Given the description of an element on the screen output the (x, y) to click on. 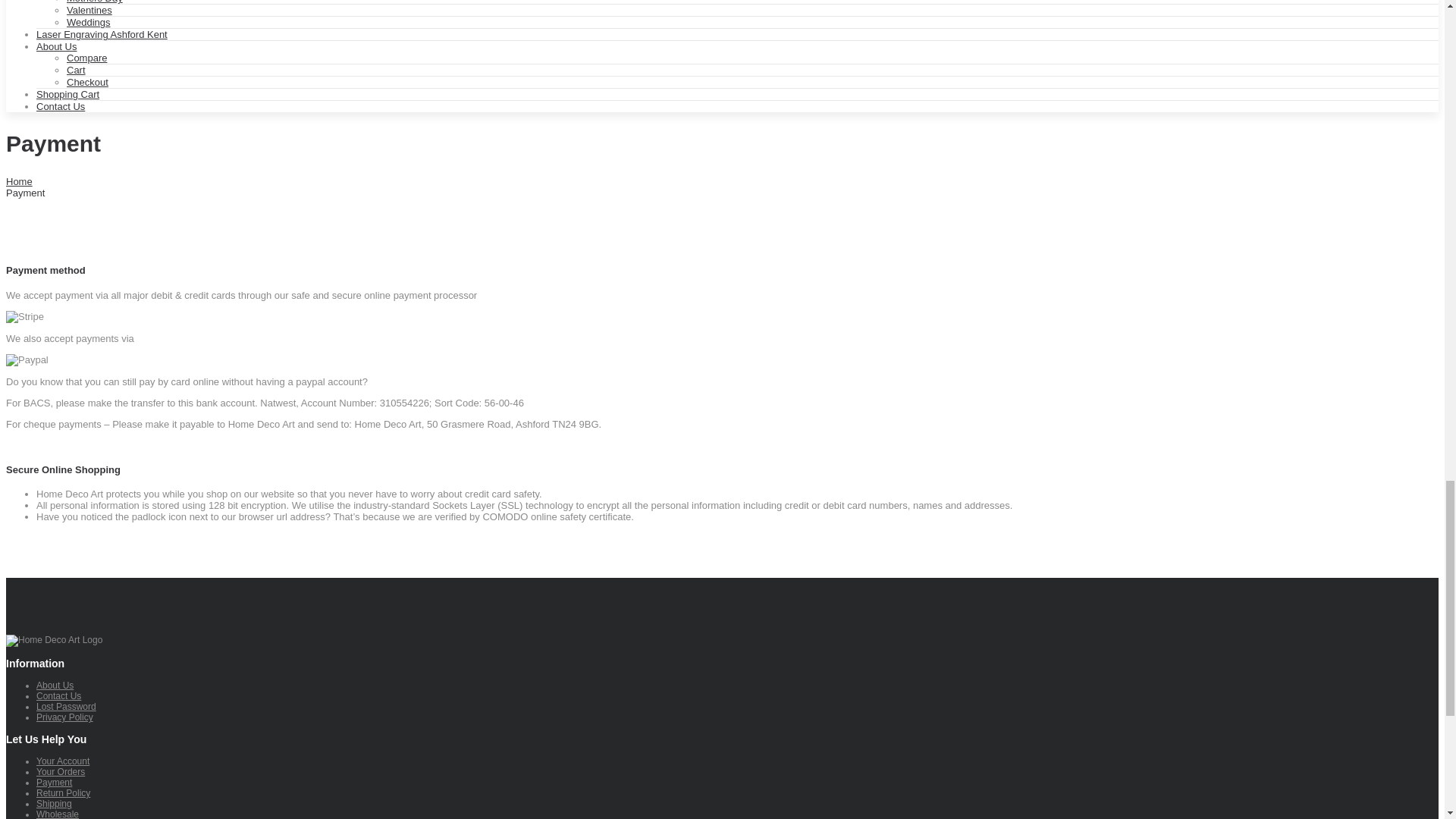
Home (18, 181)
